Given the description of an element on the screen output the (x, y) to click on. 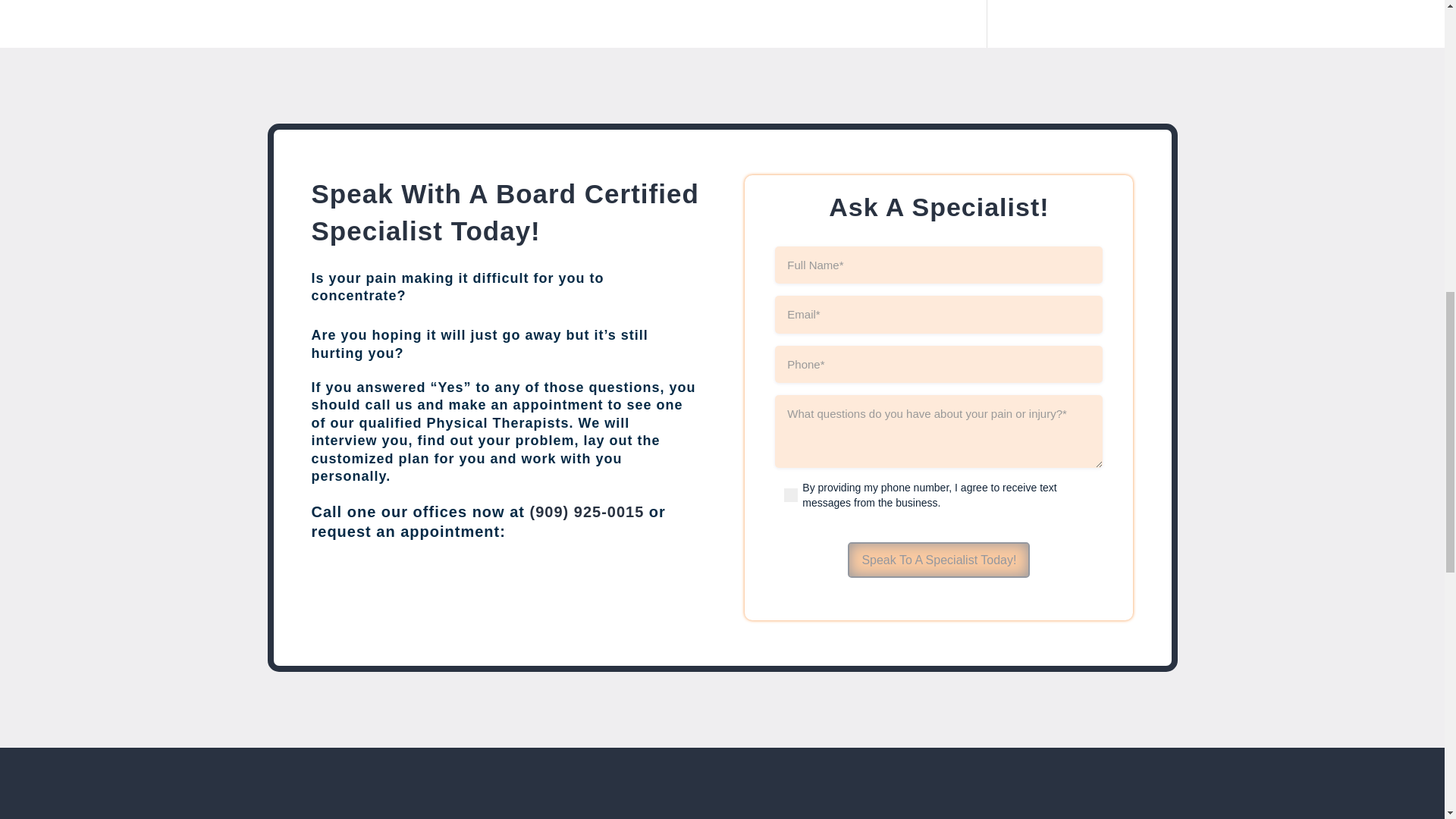
request-arrow (633, 591)
Speak To A Specialist Today! (938, 560)
image2 (722, 798)
